Given the description of an element on the screen output the (x, y) to click on. 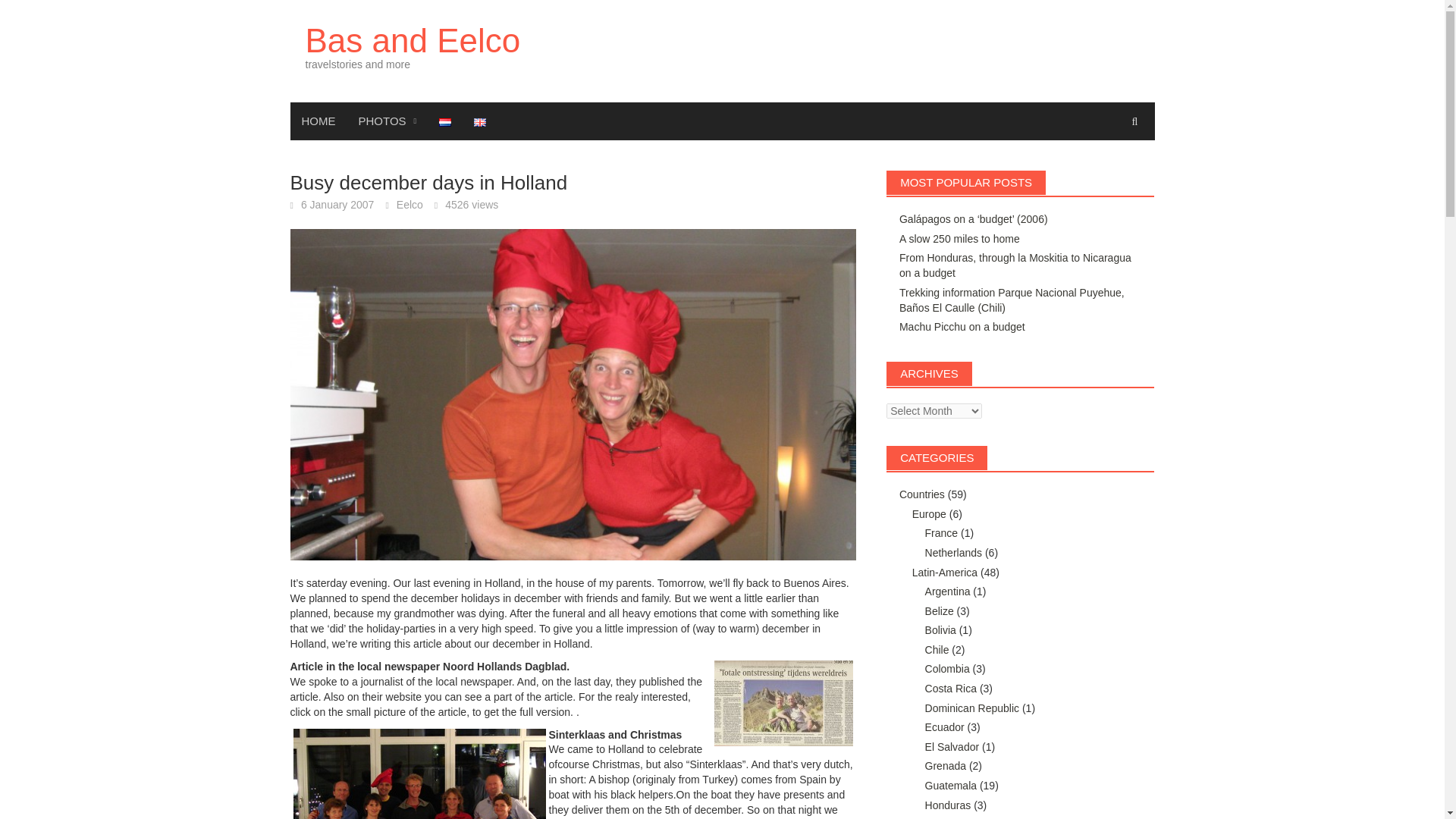
Machu Picchu on a budget (962, 326)
From Honduras, through la Moskitia to Nicaragua on a budget (1015, 265)
Europe (929, 513)
Bas and Eelco (411, 40)
Noord Hollands Dagblad. (505, 666)
HOME (317, 121)
Countries (921, 494)
a part of the article (528, 696)
PHOTOS (387, 121)
Eelco (409, 204)
A slow 250 miles to home (959, 238)
6 January 2007 (337, 204)
